Given the description of an element on the screen output the (x, y) to click on. 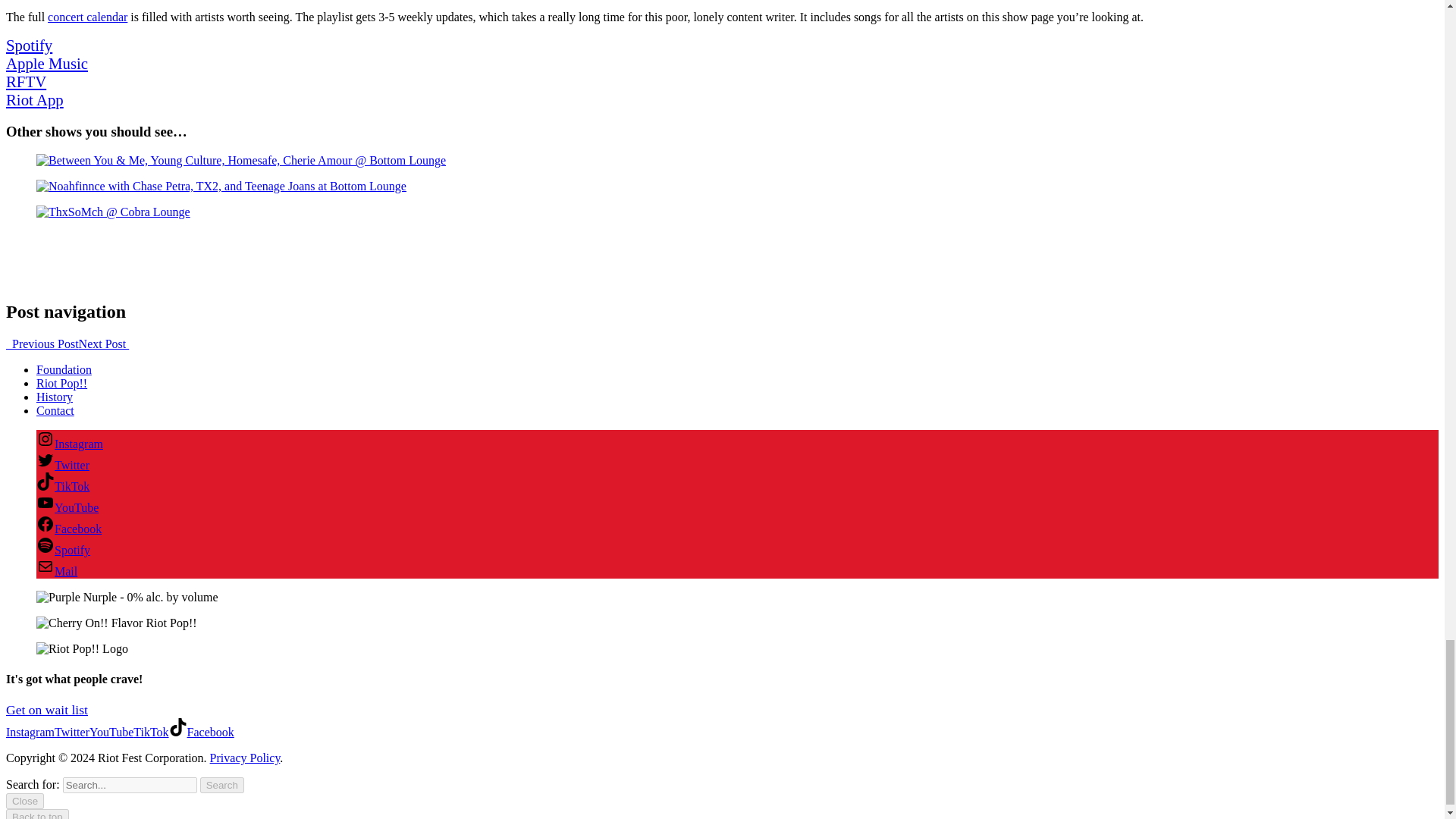
  Previous Post (41, 343)
Spotify (28, 45)
Next Post  (103, 343)
RFTV (25, 81)
Riot App (34, 99)
Foundation (63, 369)
concert calendar (88, 16)
Apple Music (46, 63)
